Given the description of an element on the screen output the (x, y) to click on. 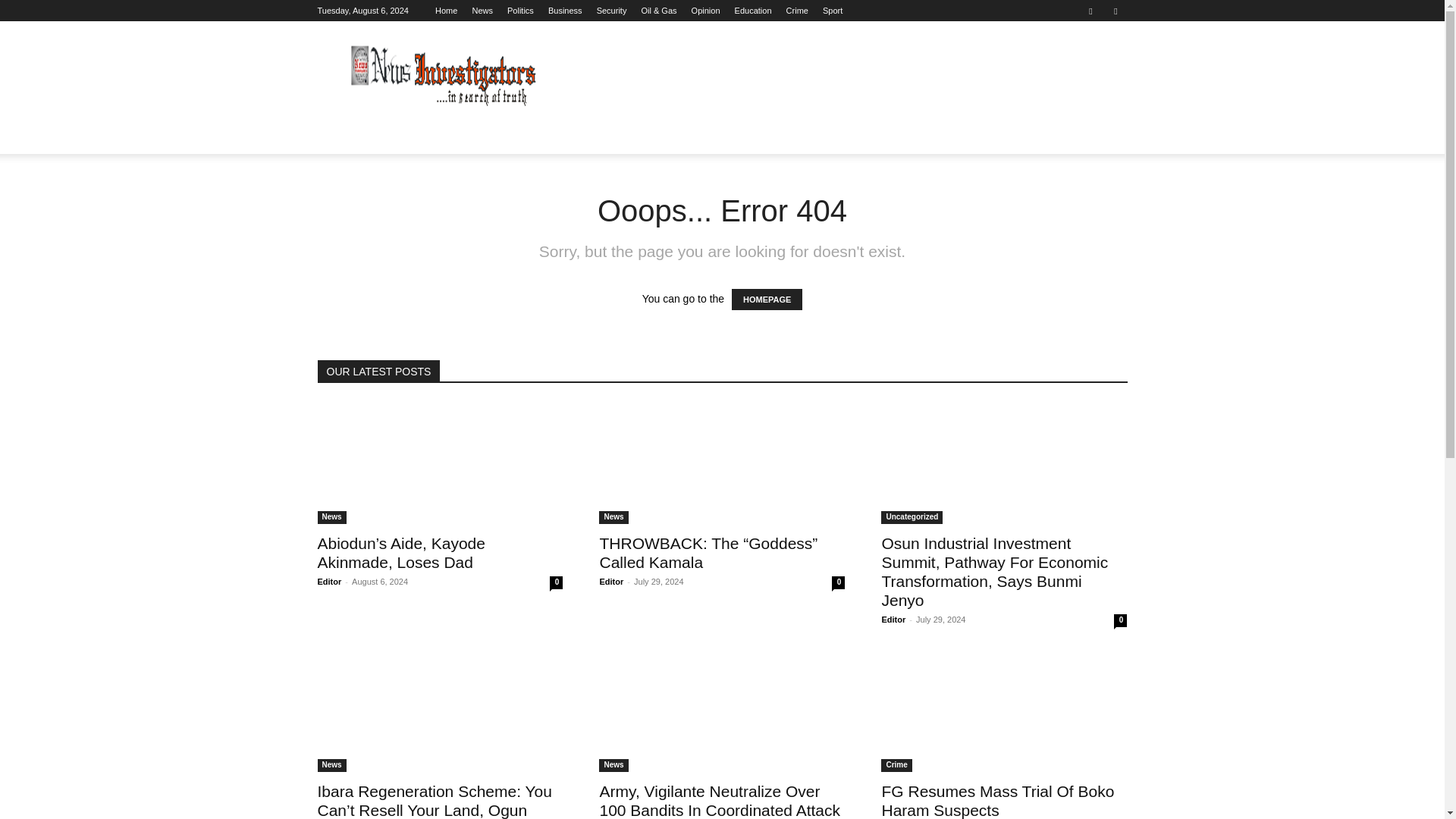
POLITICS (458, 135)
Business (565, 10)
Security (611, 10)
Home (446, 10)
Twitch (1114, 10)
News (482, 10)
Sport (832, 10)
Opinion (705, 10)
NEWS (396, 135)
CRIME (896, 135)
HOME (343, 135)
Crime (797, 10)
Facebook (1090, 10)
